Given the description of an element on the screen output the (x, y) to click on. 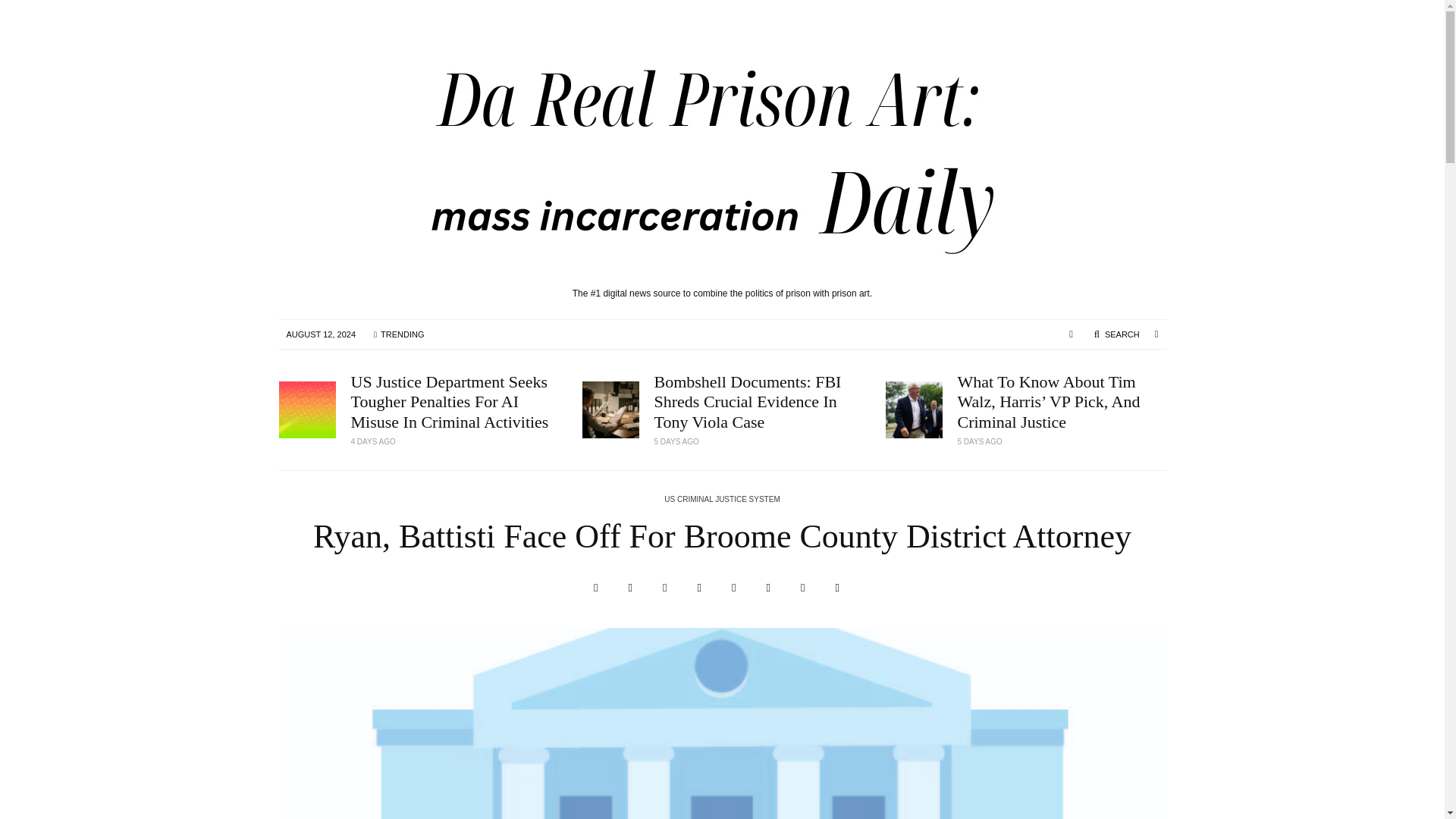
TRENDING (397, 334)
US CRIMINAL JUSTICE SYSTEM (720, 499)
SEARCH (1116, 333)
